Given the description of an element on the screen output the (x, y) to click on. 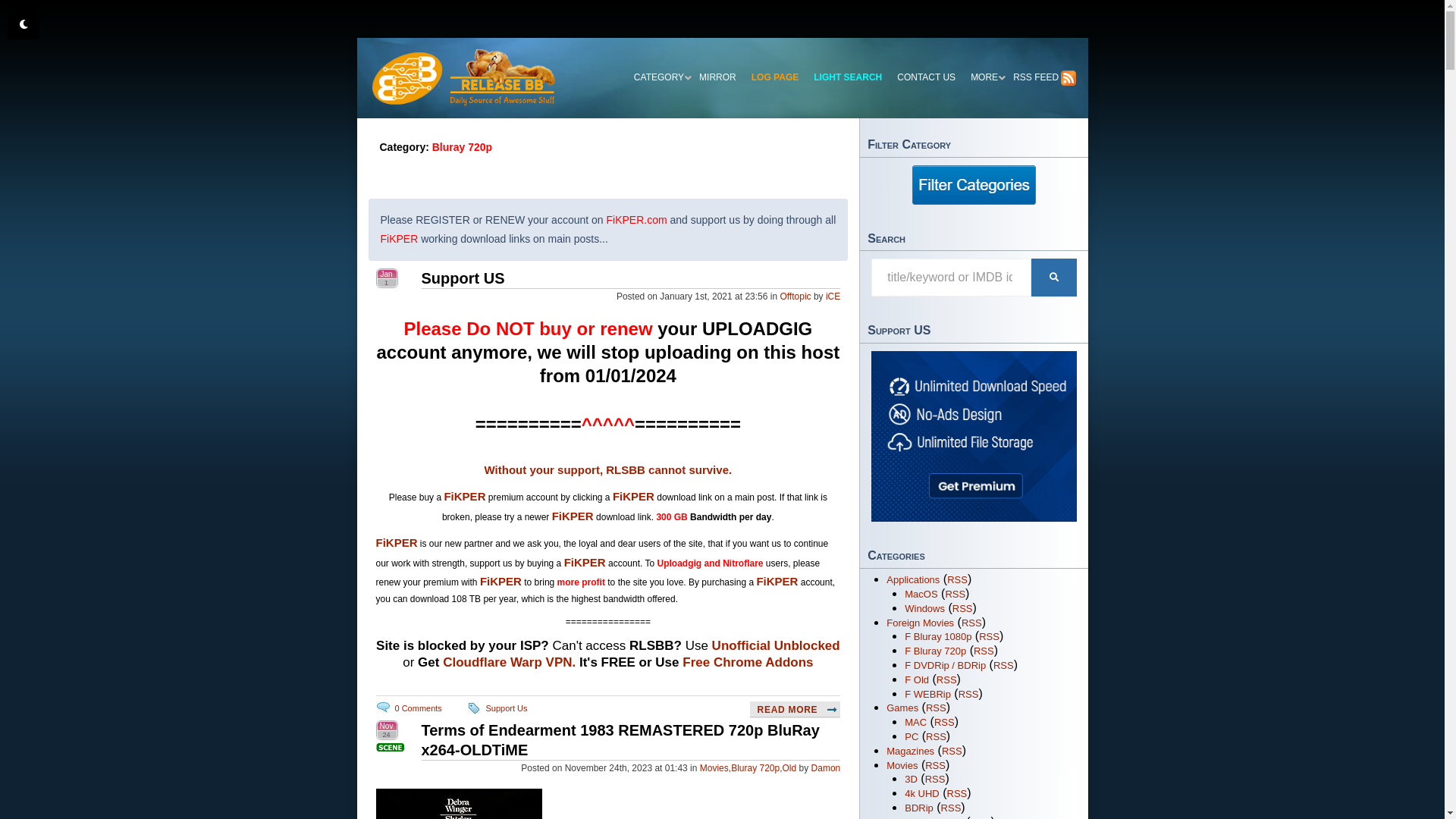
Windows Element type: text (924, 608)
FiKPER Element type: text (464, 495)
PC Element type: text (911, 736)
CATEGORY Element type: text (658, 77)
iCE Element type: text (832, 296)
Support US Element type: text (463, 277)
Without your support, RLSBB cannot survive. Element type: text (608, 469)
F Old Element type: text (916, 679)
RSS FEED Element type: text (1040, 77)
Bluray 720p Element type: text (755, 767)
Cloudflare Warp VPN. Element type: text (509, 662)
Damon Element type: text (825, 767)
RSS Element type: text (962, 608)
RSS Element type: text (951, 807)
Search for: Element type: hover (950, 277)
F Bluray 720p Element type: text (935, 650)
Support Us Element type: text (506, 707)
RSS Element type: text (957, 579)
F WEBRip Element type: text (927, 693)
F DVDRip / BDRip Element type: text (944, 665)
Foreign Movies Element type: text (919, 622)
READ MORE Element type: text (794, 709)
CONTACT US Element type: text (926, 77)
FiKPER Element type: text (396, 542)
RSS Element type: text (954, 593)
Applications Element type: text (912, 579)
MORE Element type: text (984, 77)
RSS Element type: text (946, 679)
Movies Element type: text (713, 767)
RSS Element type: text (951, 750)
RSS Element type: text (1003, 665)
Movies Element type: text (901, 765)
FiKPER Element type: text (584, 561)
Free Chrome Addons Element type: text (747, 662)
RSS Element type: text (935, 778)
Offtopic Element type: text (794, 296)
RSS Element type: text (935, 707)
FiKPER Element type: text (633, 495)
RSS Element type: text (935, 765)
RSS Element type: text (971, 622)
3D Element type: text (910, 778)
RSS Element type: text (957, 793)
RSS Element type: text (944, 722)
FiKPER Element type: text (572, 515)
Unofficial Unblocked Element type: text (776, 645)
RSS Element type: text (983, 650)
RSS Element type: text (989, 636)
0 Comments Element type: text (417, 707)
RSS Element type: text (968, 693)
LOG PAGE Element type: text (774, 77)
4k UHD Element type: text (921, 793)
RSS Element type: text (935, 736)
MacOS Element type: text (920, 593)
MIRROR Element type: text (717, 77)
Old Element type: text (789, 767)
FiKPER Element type: text (500, 580)
Games Element type: text (902, 707)
Terms of Endearment 1983 REMASTERED 720p BluRay x264-OLDTiME Element type: text (620, 739)
SEARCH Element type: text (1053, 277)
F Bluray 1080p Element type: text (937, 636)
MAC Element type: text (915, 722)
LIGHT SEARCH Element type: text (847, 77)
FiKPER Element type: text (776, 580)
BDRip Element type: text (918, 807)
Magazines Element type: text (910, 750)
